Given the description of an element on the screen output the (x, y) to click on. 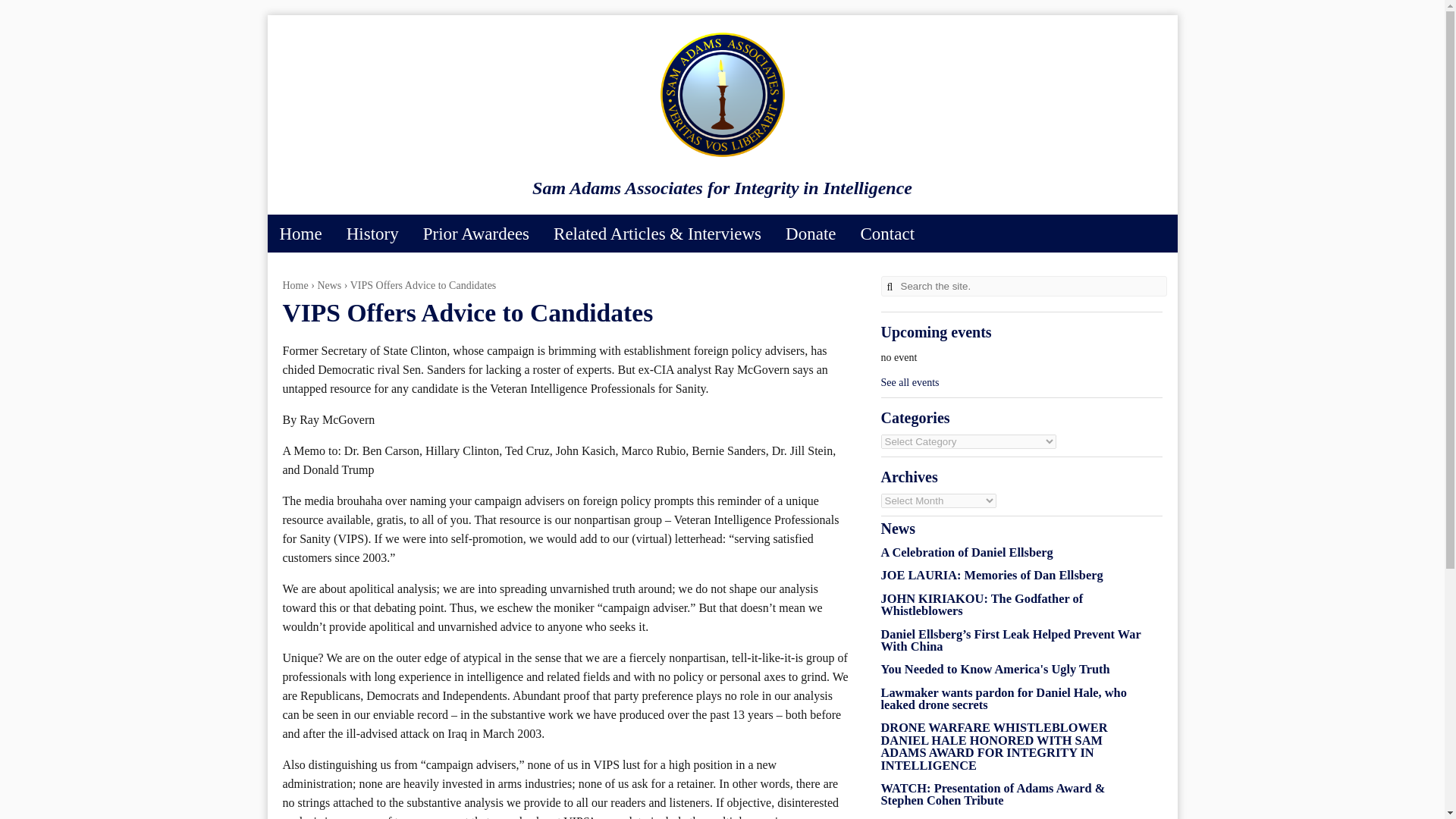
News (328, 285)
Home (299, 233)
Prior Awardees (475, 233)
Donate (810, 233)
History (372, 233)
Sam Adams Associates for Integrity in Intelligence (722, 155)
Home (294, 285)
